Given the description of an element on the screen output the (x, y) to click on. 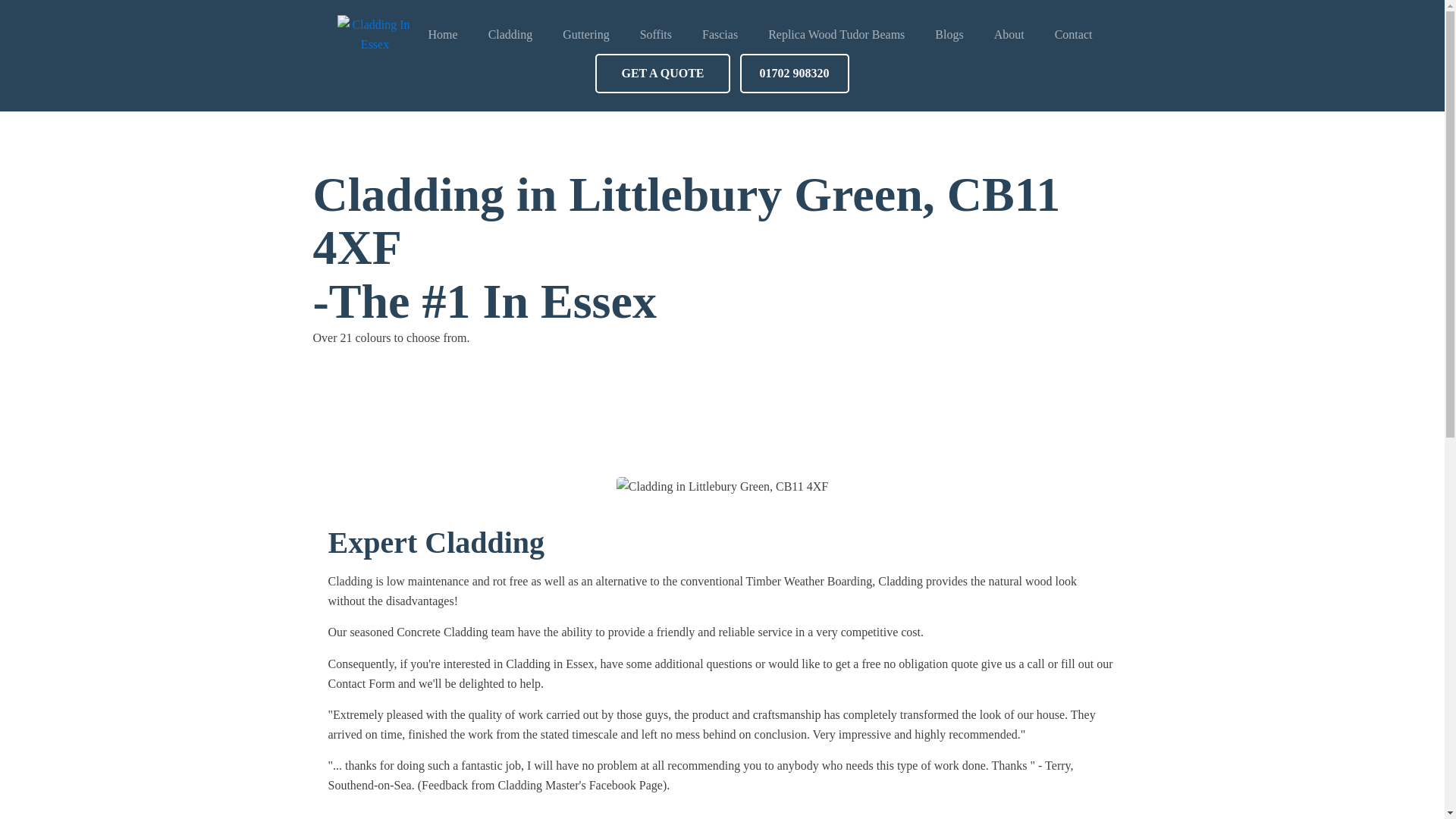
Contact (1073, 34)
01702 908320 (793, 73)
Blogs (949, 34)
About (1008, 34)
Replica Wood Tudor Beams (836, 34)
Fascias (719, 34)
Guttering (585, 34)
GET A QUOTE (662, 73)
Cladding (510, 34)
Home (443, 34)
